Given the description of an element on the screen output the (x, y) to click on. 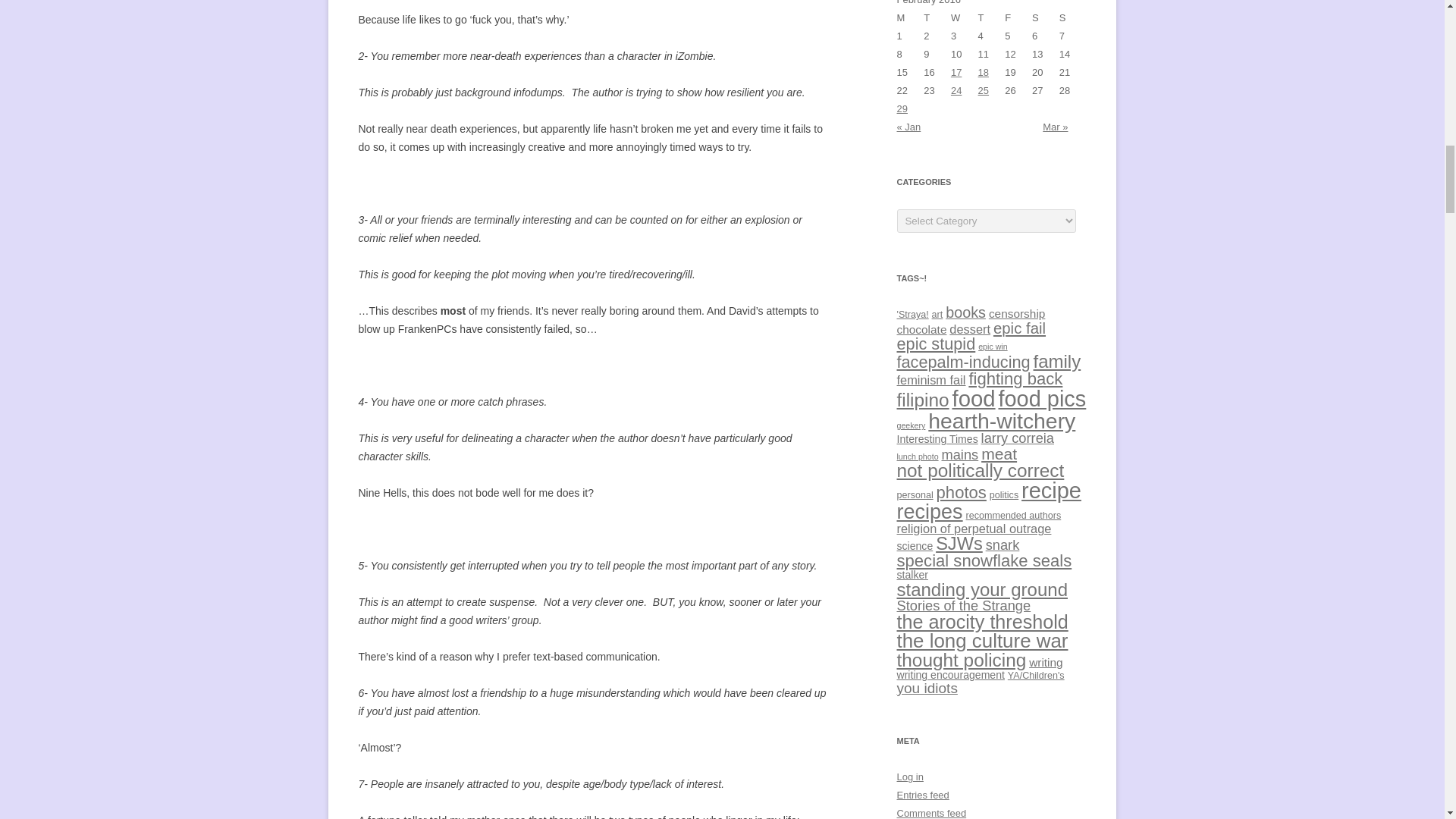
Tuesday (936, 18)
Thursday (992, 18)
Friday (1018, 18)
Wednesday (964, 18)
Monday (909, 18)
